Given the description of an element on the screen output the (x, y) to click on. 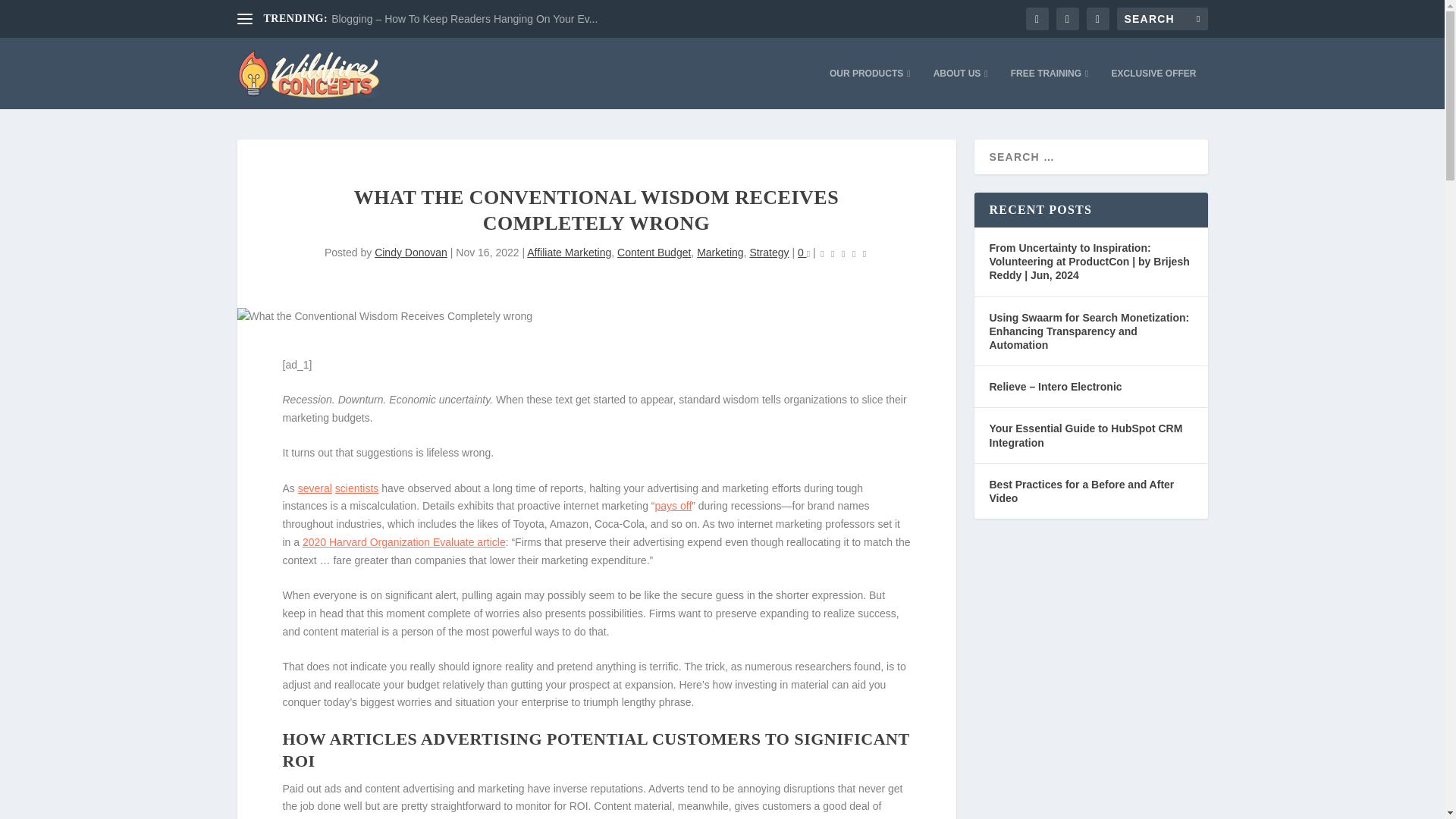
ABOUT US (960, 87)
Posts by Cindy Donovan (410, 252)
Rating: 0.00 (842, 253)
FREE TRAINING (1049, 87)
Search for: (1161, 18)
OUR PRODUCTS (870, 87)
